Given the description of an element on the screen output the (x, y) to click on. 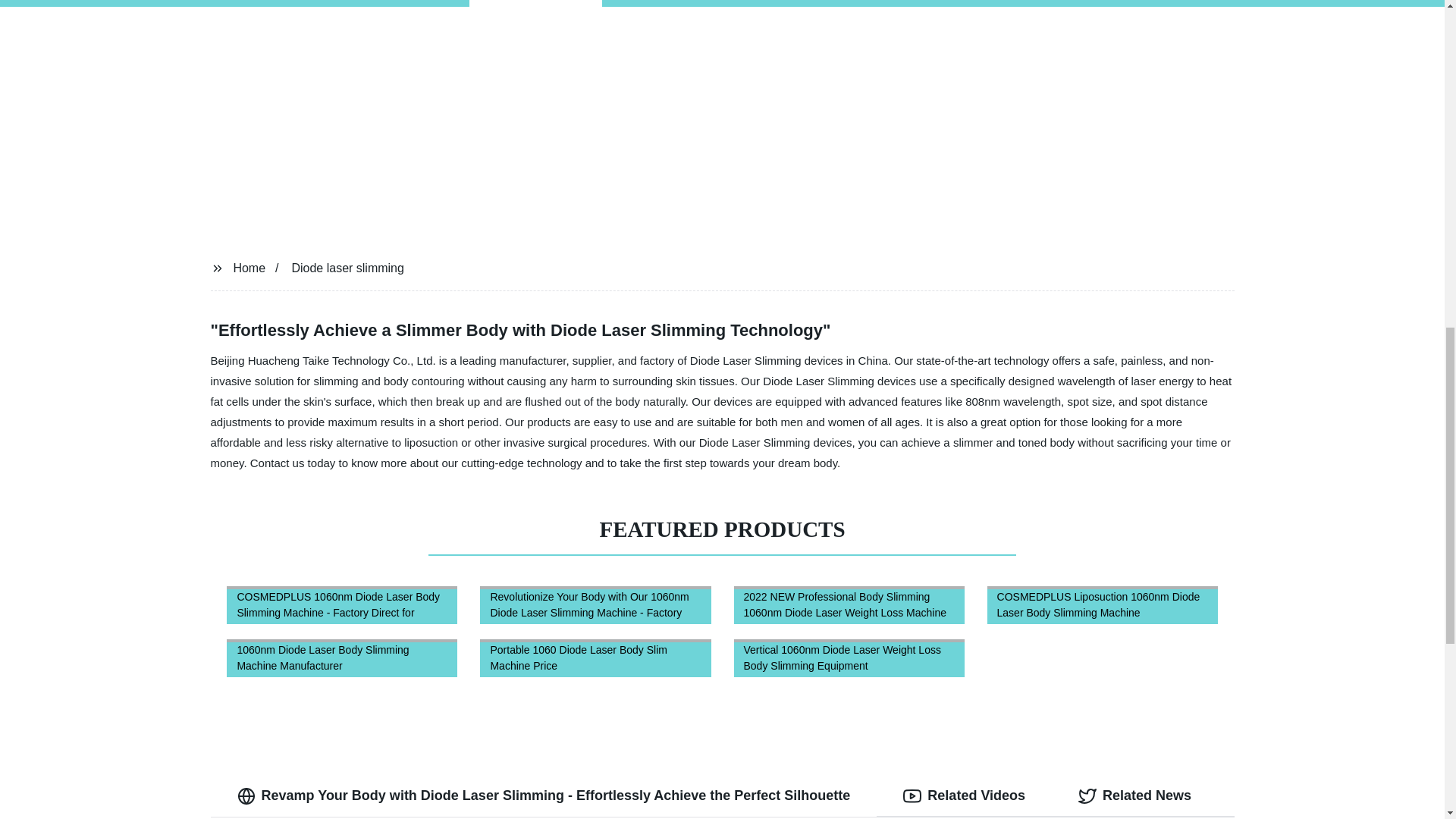
PRODUCTS (535, 2)
NEWS (652, 2)
CONTACT US (877, 2)
BLOG (753, 2)
HOME (417, 2)
ABOUT US (1013, 2)
